Given the description of an element on the screen output the (x, y) to click on. 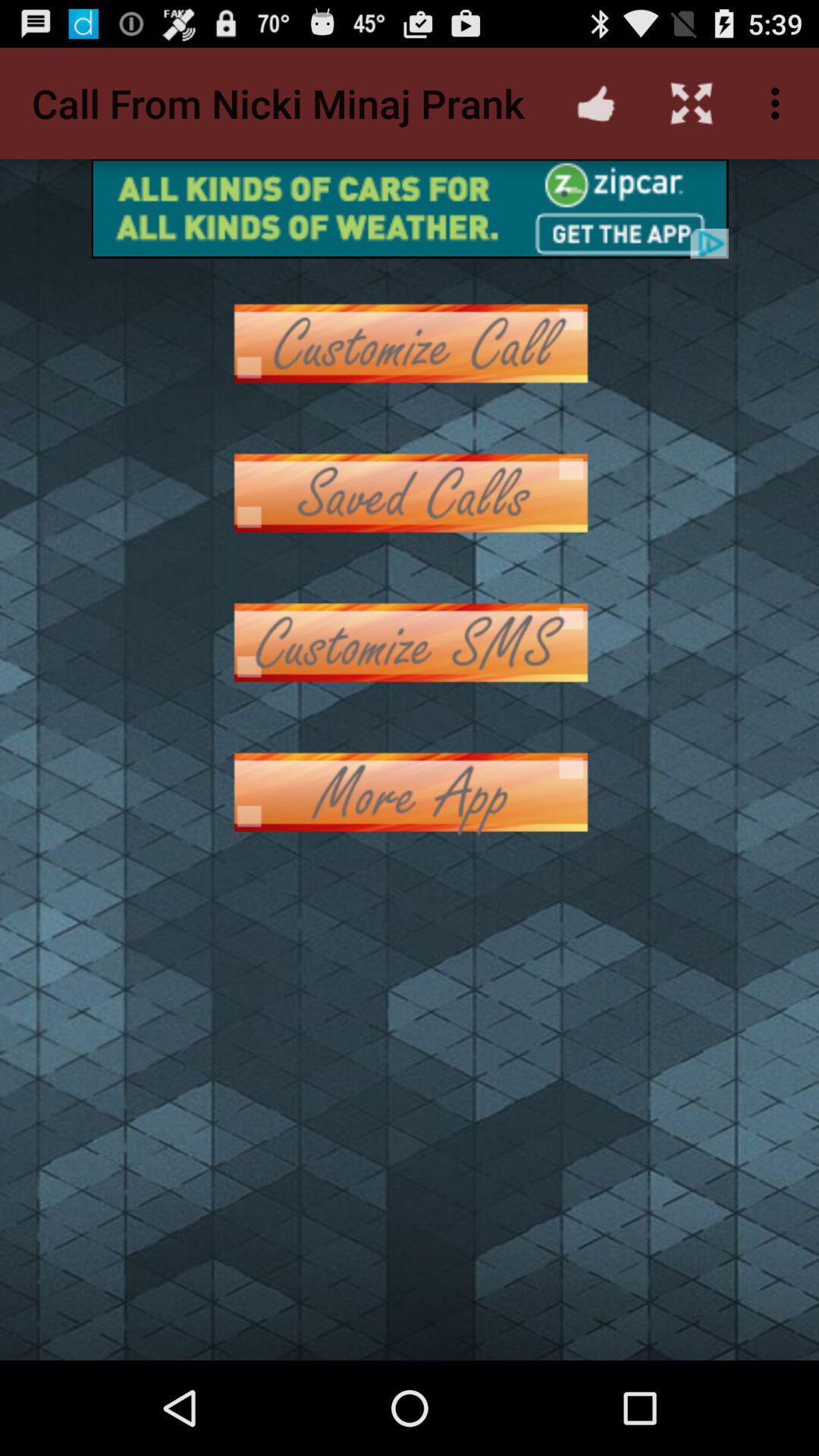
more app (409, 792)
